Given the description of an element on the screen output the (x, y) to click on. 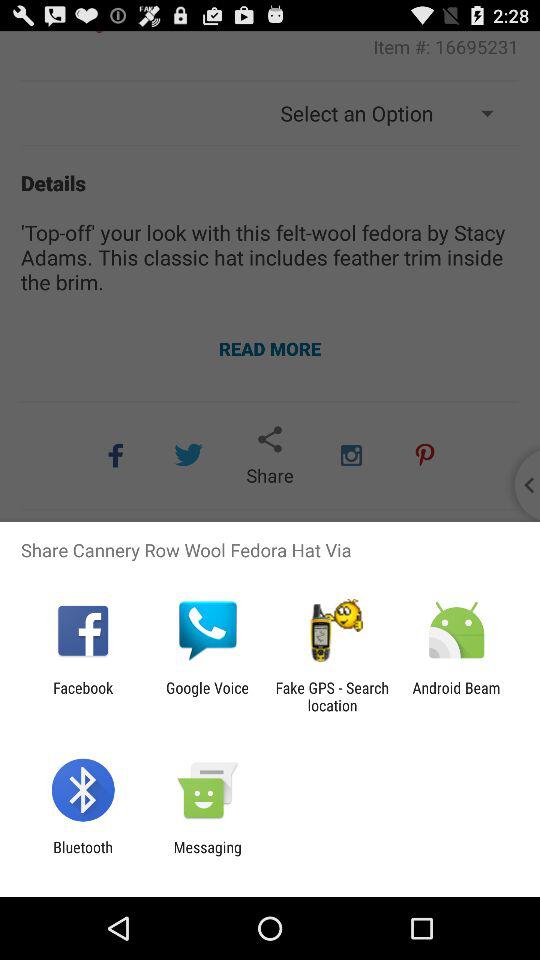
launch the app to the right of fake gps search item (456, 696)
